Given the description of an element on the screen output the (x, y) to click on. 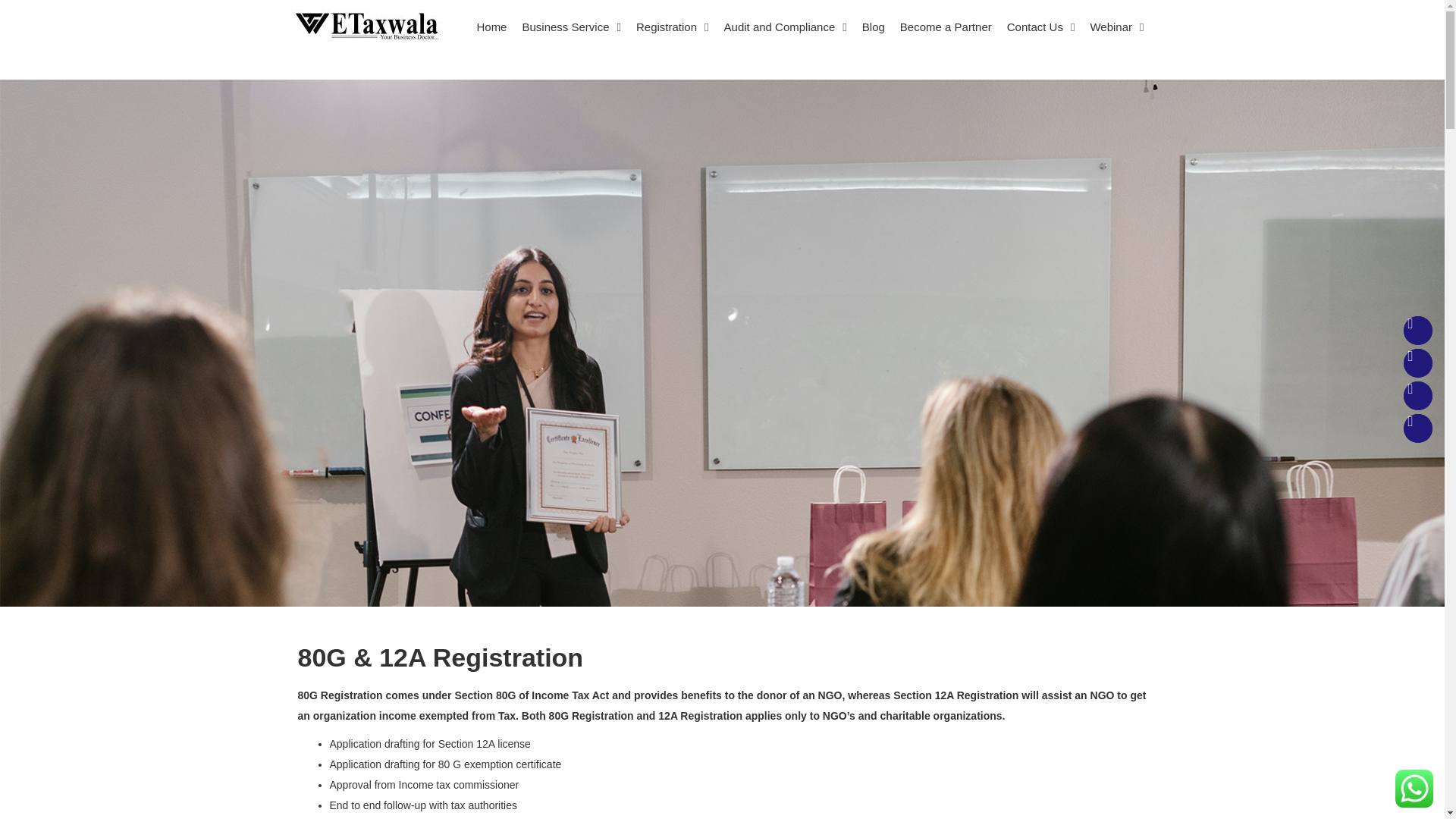
Registration (672, 27)
Home (490, 27)
Audit and Compliance (785, 27)
Webinar (1116, 27)
Become a Partner (945, 27)
www.etaxwala.com (365, 24)
Blog (873, 27)
Contact Us (1040, 27)
Business Service (570, 27)
